Given the description of an element on the screen output the (x, y) to click on. 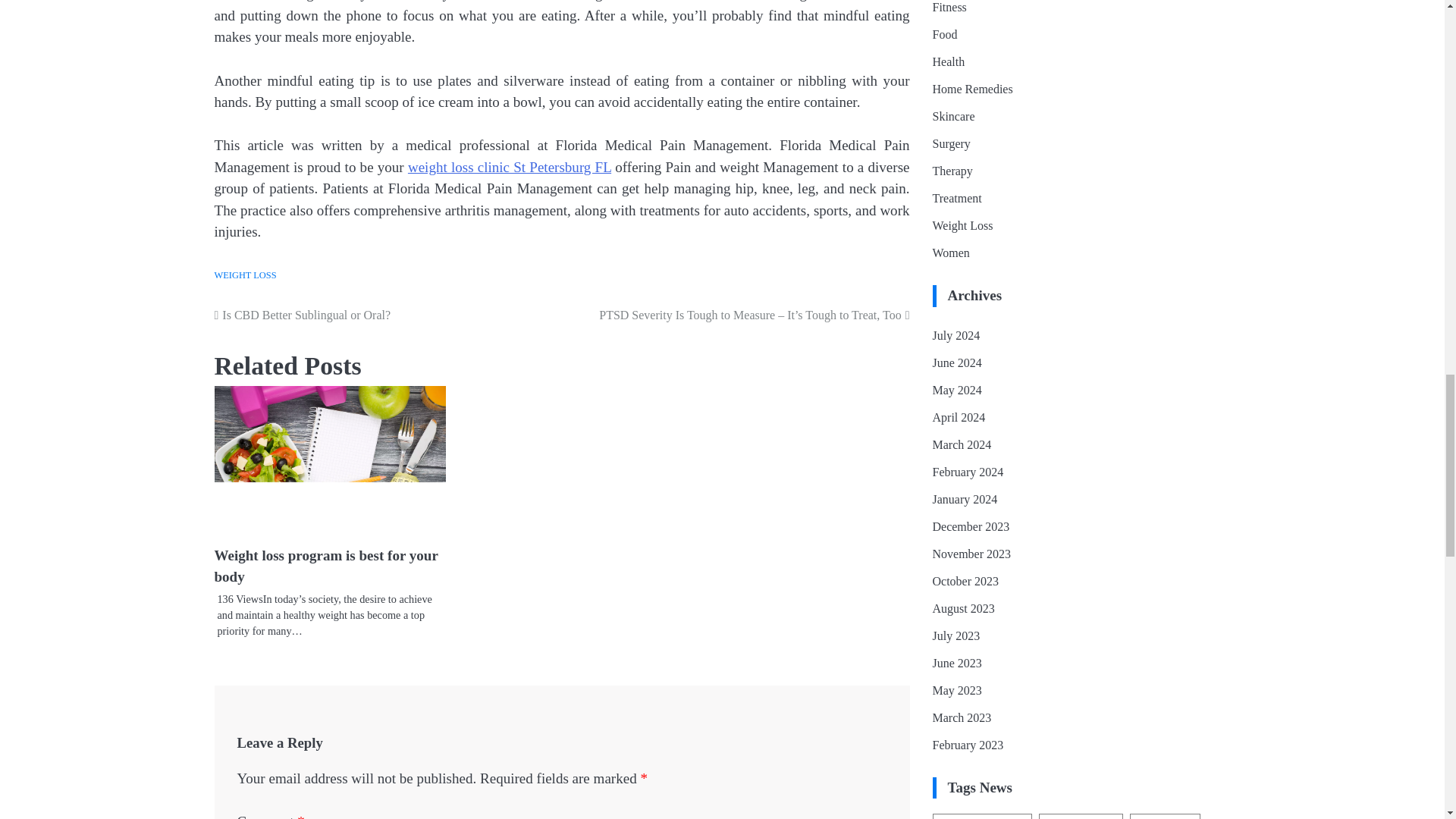
Is CBD Better Sublingual or Oral? (388, 315)
weight loss clinic St Petersburg FL (509, 166)
Weight loss program is best for your body (326, 566)
WEIGHT LOSS (245, 275)
